Given the description of an element on the screen output the (x, y) to click on. 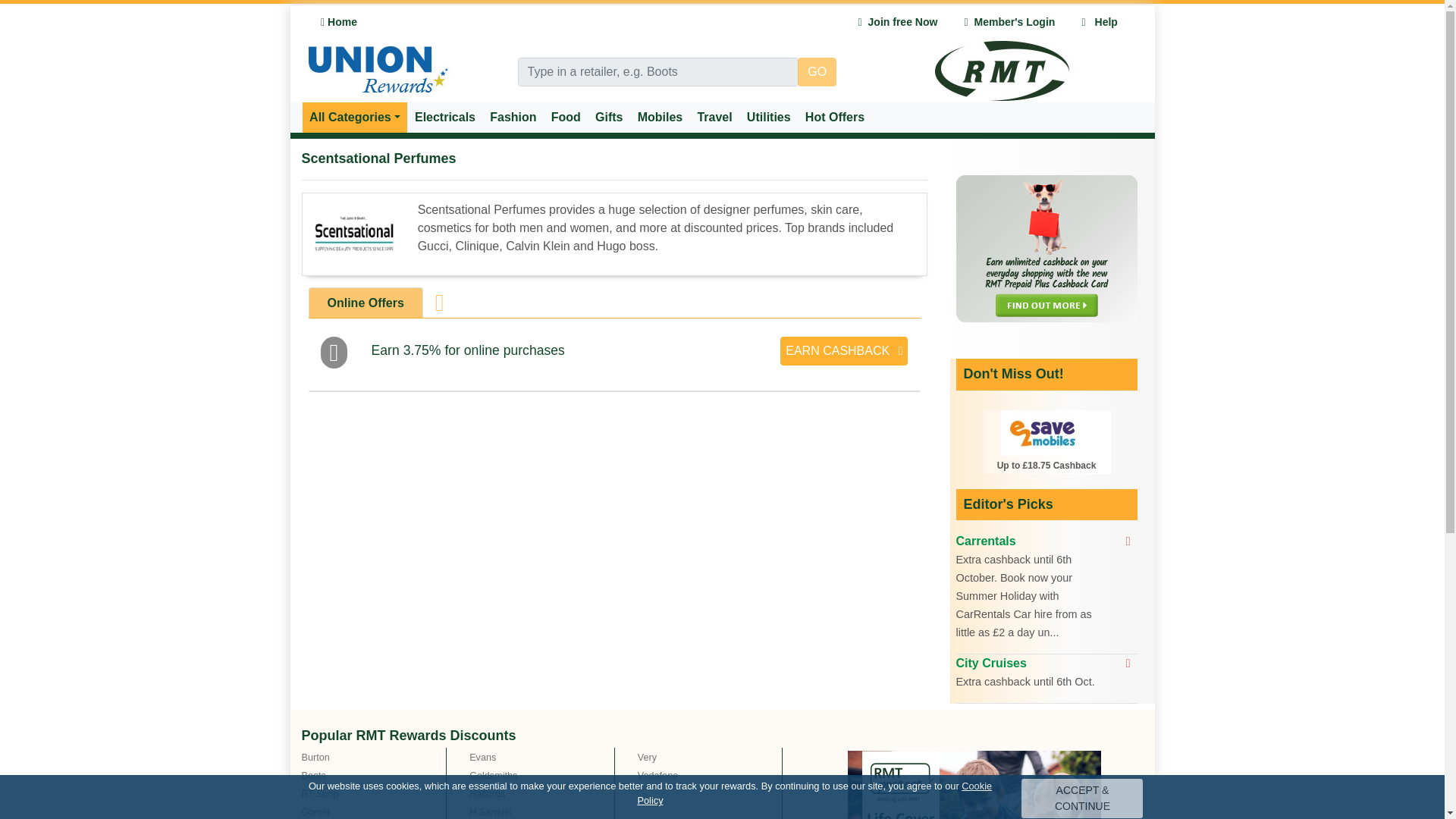
All Categories (354, 117)
Join free Now (897, 22)
Member's Login (1009, 22)
Member's Login (1009, 22)
Home (339, 22)
Help (1099, 22)
Help (1099, 22)
GO (816, 71)
Join free Now (897, 22)
Home (339, 22)
